Given the description of an element on the screen output the (x, y) to click on. 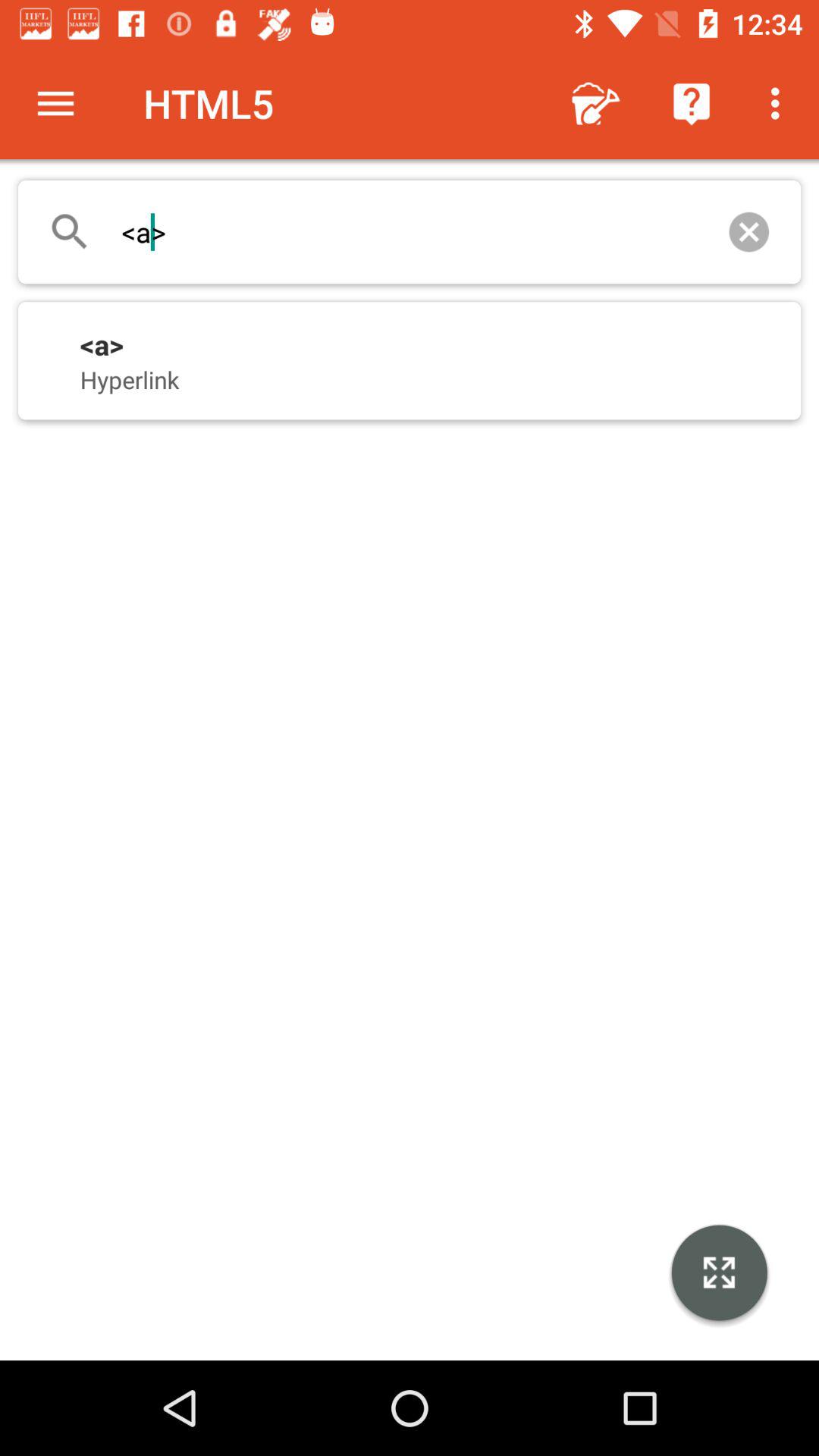
open the app to the left of html5 item (55, 103)
